Given the description of an element on the screen output the (x, y) to click on. 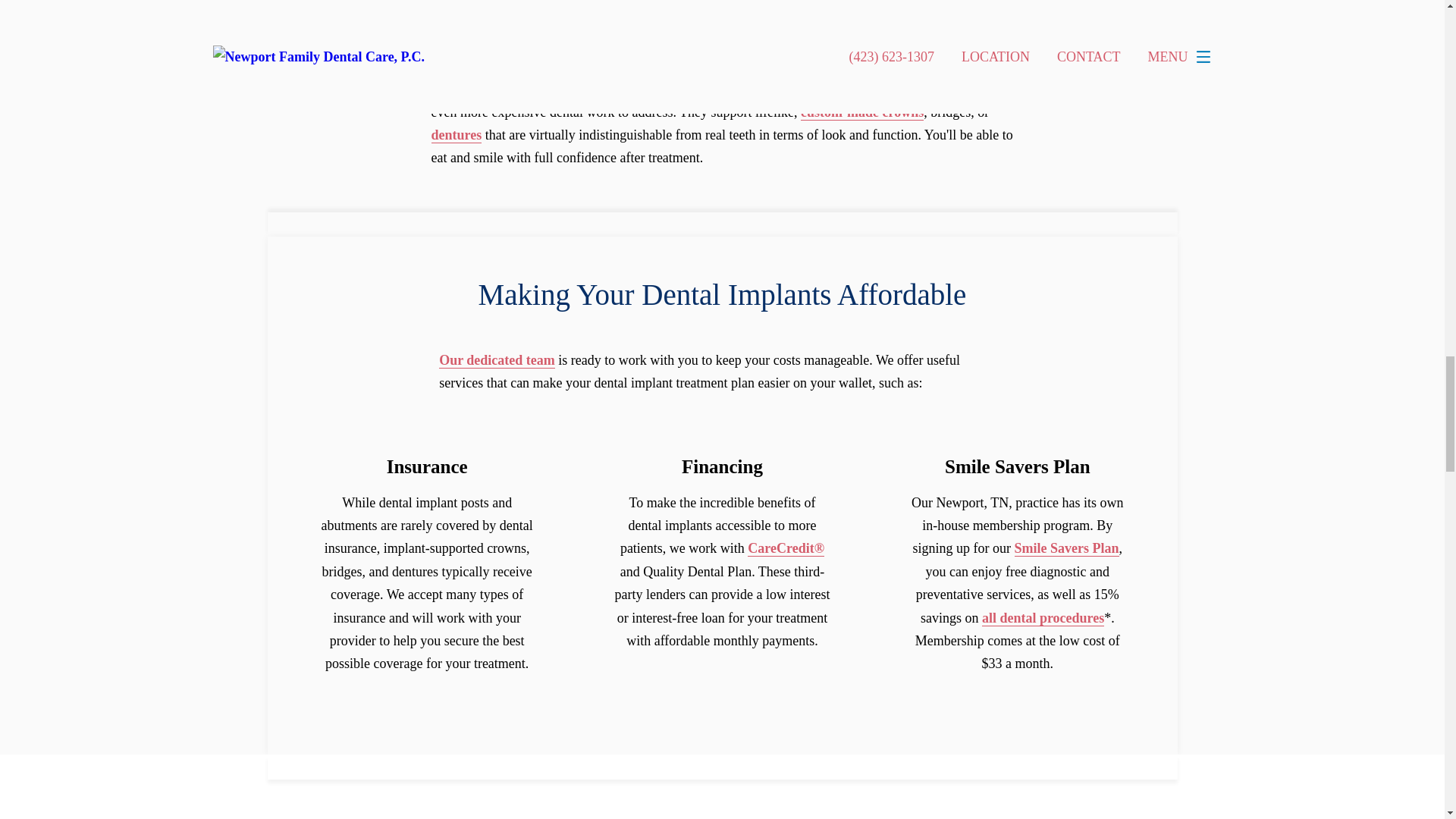
Smile Savers Plan (1066, 548)
all dental procedures (1042, 618)
dentures (455, 135)
Our dedicated team (496, 360)
custom-made crowns (861, 112)
